Given the description of an element on the screen output the (x, y) to click on. 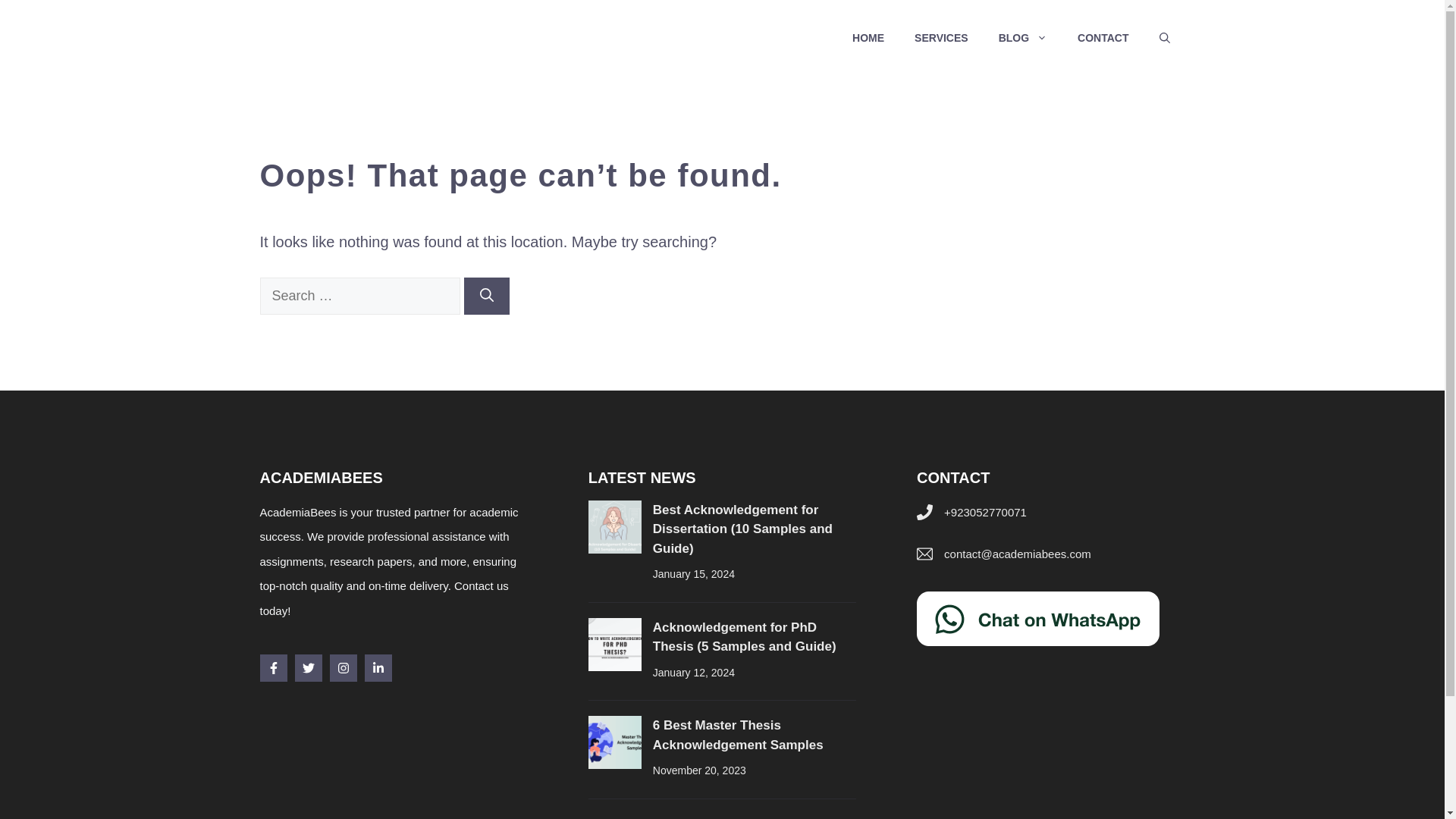
SERVICES (941, 37)
CONTACT (1102, 37)
HOME (868, 37)
Search for: (359, 295)
ACADEMIA BEES (354, 37)
BLOG (1023, 37)
6 Best Master Thesis Acknowledgement Samples (738, 735)
